Given the description of an element on the screen output the (x, y) to click on. 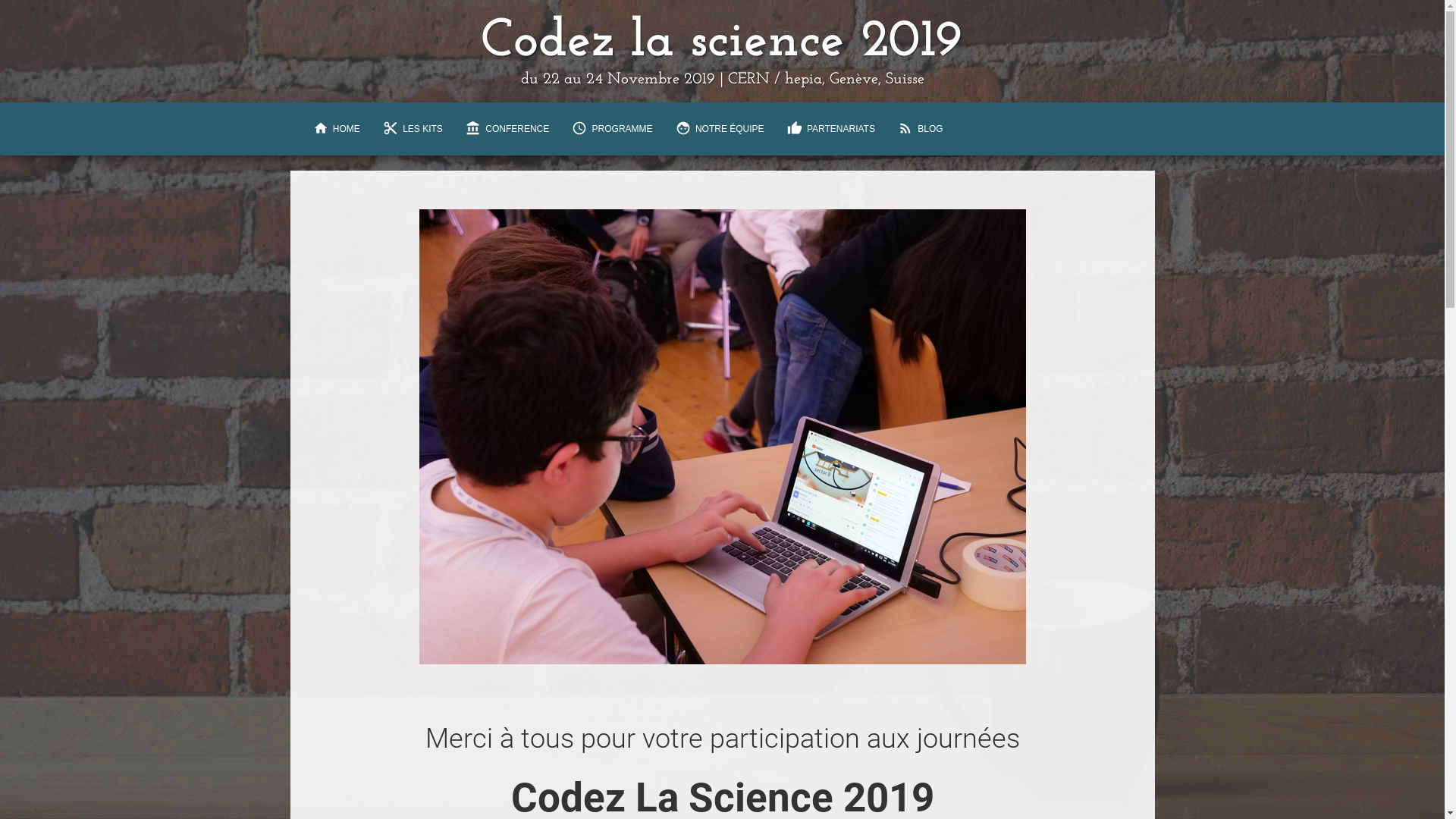
home HOME Element type: text (336, 128)
account_balance CONFERENCE Element type: text (507, 128)
thumb_up PARTENARIATS Element type: text (830, 128)
content_cut LES KITS Element type: text (412, 128)
rss_feed BLOG Element type: text (920, 128)
schedule PROGRAMME Element type: text (611, 128)
